Given the description of an element on the screen output the (x, y) to click on. 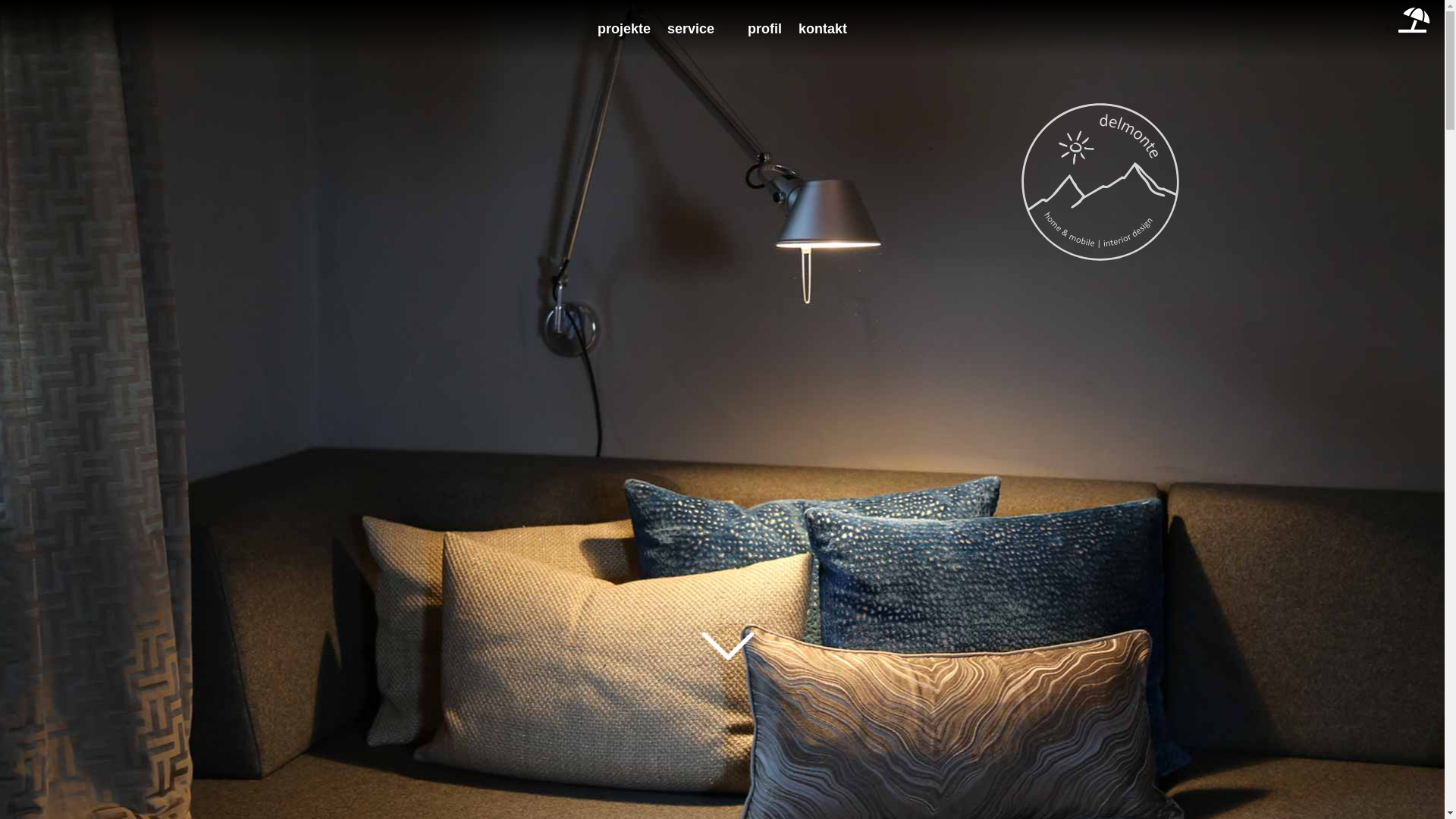
Hero-Logo Element type: hover (1100, 181)
profil Element type: text (764, 28)
kontakt Element type: text (822, 28)
projekte Element type: text (623, 28)
service Element type: text (690, 28)
